Given the description of an element on the screen output the (x, y) to click on. 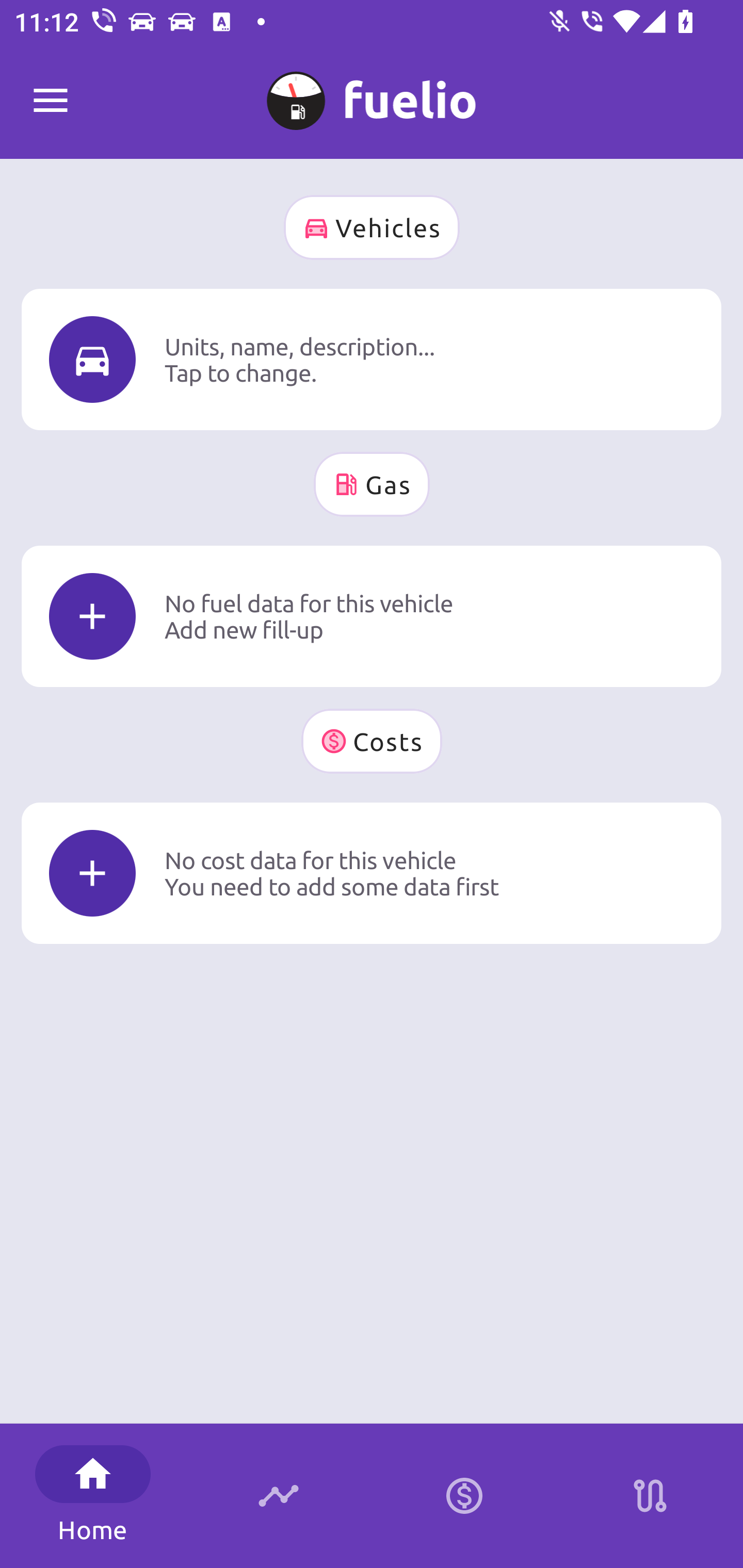
A No name 0 km (371, 92)
Fuelio (50, 101)
Vehicles (371, 227)
Icon Units, name, description...
Tap to change. (371, 358)
Icon (92, 359)
Gas (371, 484)
Icon No fuel data for this vehicle
Add new fill-up (371, 615)
Icon (92, 616)
Costs (371, 740)
Icon (92, 873)
Timeline (278, 1495)
Calculator (464, 1495)
Stations on route (650, 1495)
